Given the description of an element on the screen output the (x, y) to click on. 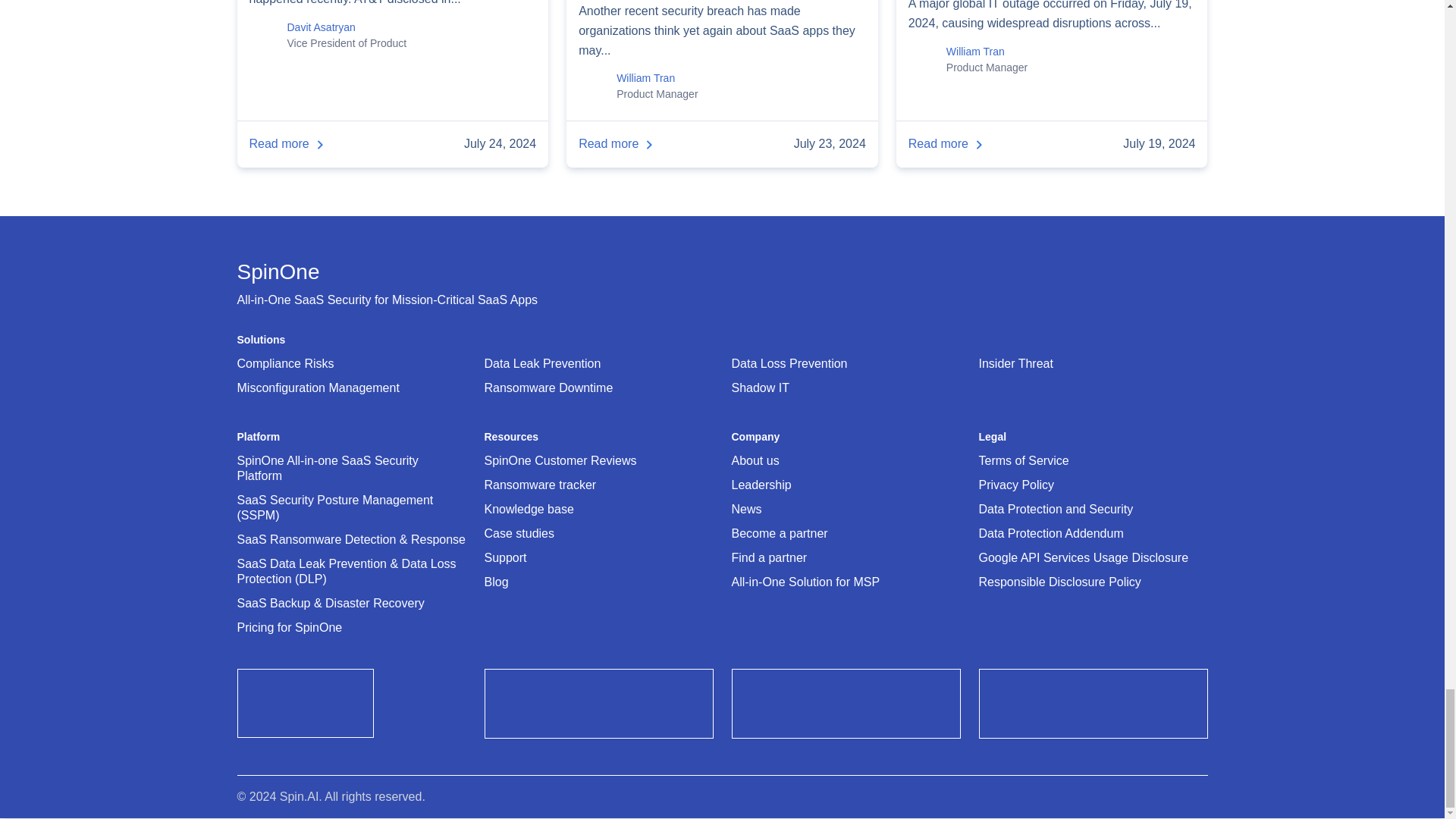
Posts by William Tran (645, 78)
Posts by Davit Asatryan (320, 27)
Posts by William Tran (975, 51)
